Given the description of an element on the screen output the (x, y) to click on. 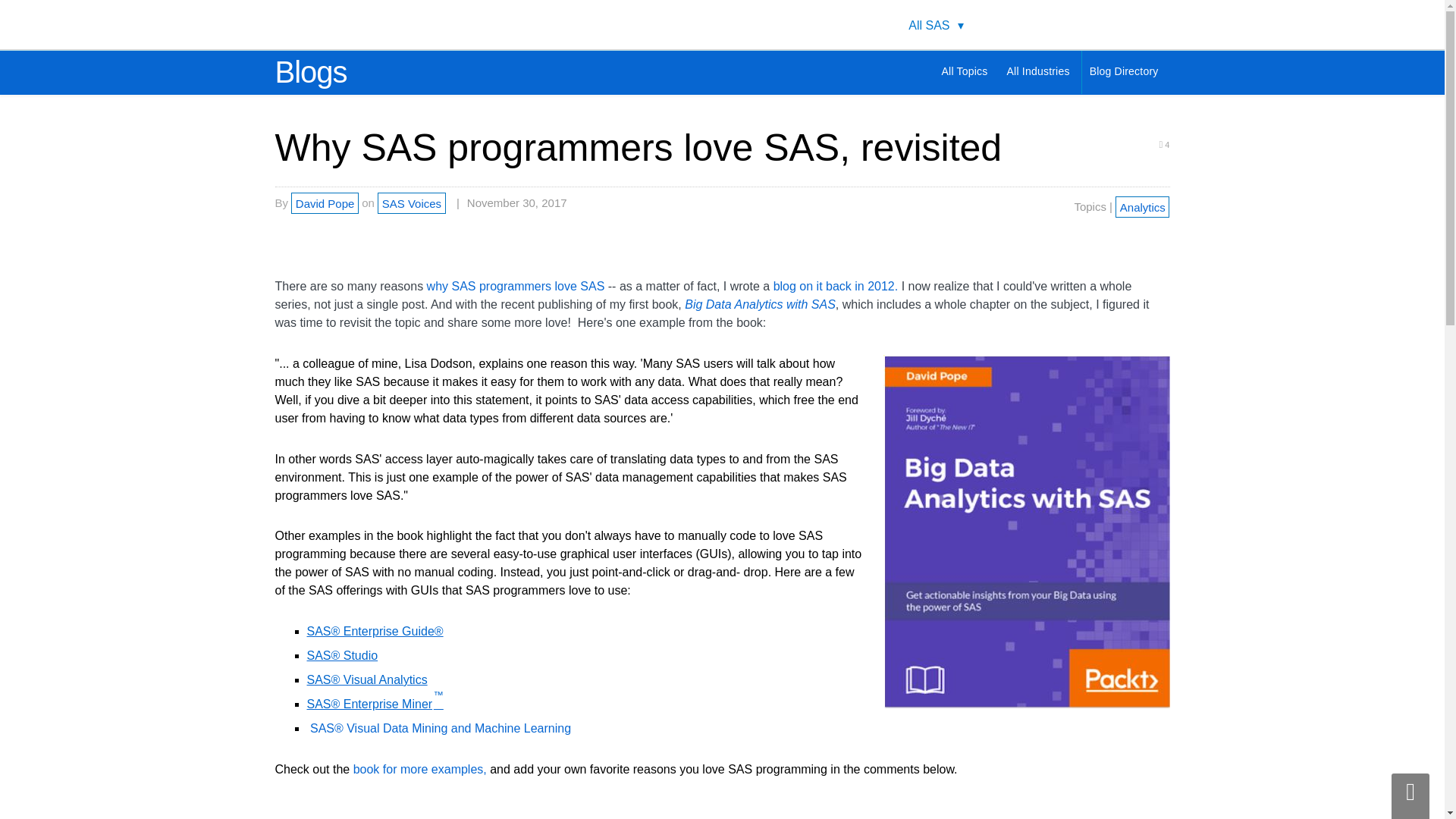
Software (927, 25)
Analytics (1142, 206)
2017-11-30 (511, 202)
Search (1037, 24)
Worldwide Sites (1072, 24)
Contact Us (1108, 24)
All SAS (935, 25)
SAS Sites (1141, 24)
Posts by David Pope (324, 202)
